Given the description of an element on the screen output the (x, y) to click on. 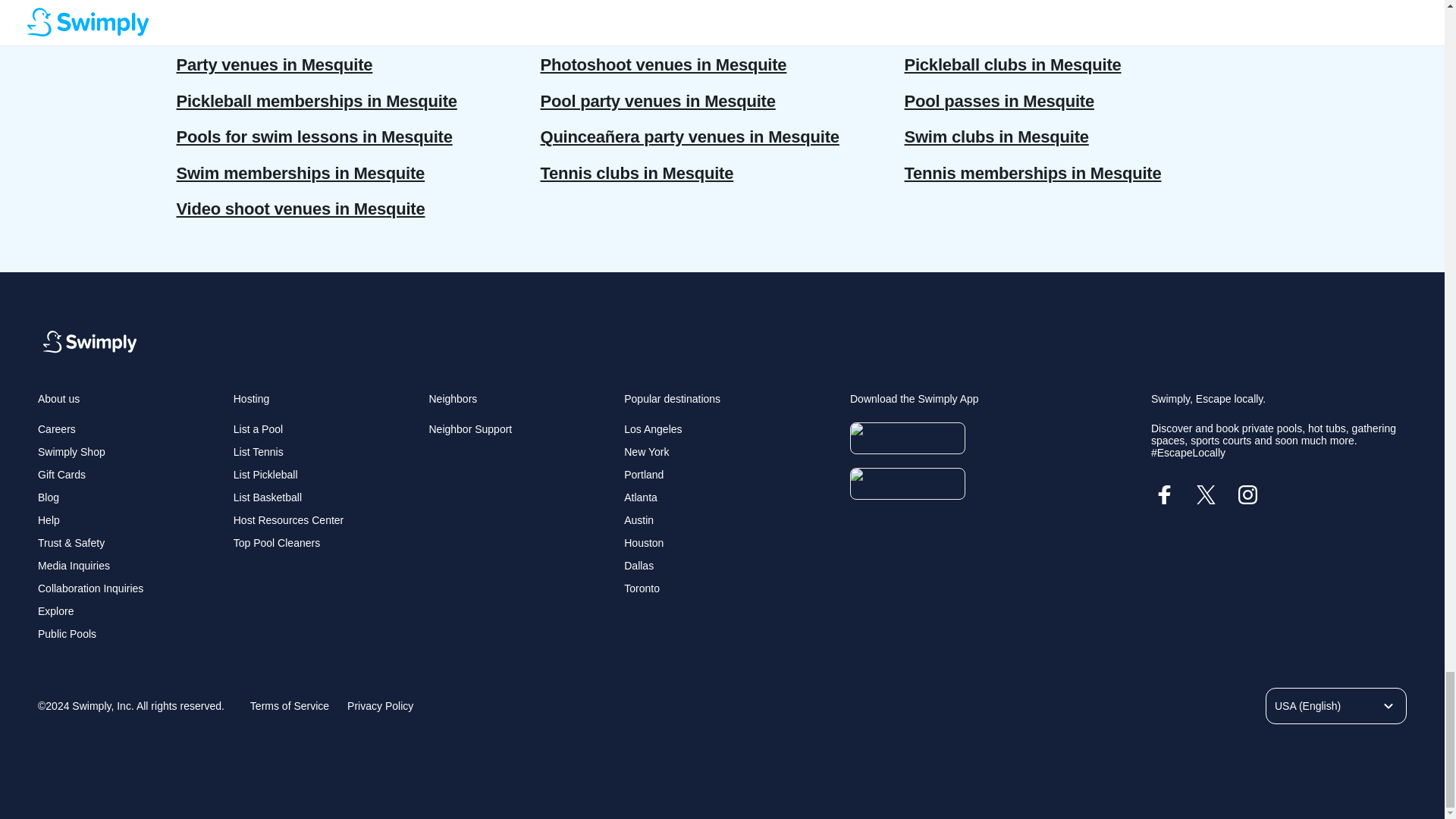
Gift Cards (61, 474)
List Tennis (257, 451)
Collaboration Inquiries (89, 588)
Swimply Shop (70, 451)
List a Pool (257, 428)
Careers (56, 428)
Explore (55, 611)
List Pickleball (265, 474)
Blog (48, 497)
Help (48, 520)
List Basketball (266, 497)
Public Pools (66, 633)
Media Inquiries (73, 565)
